Given the description of an element on the screen output the (x, y) to click on. 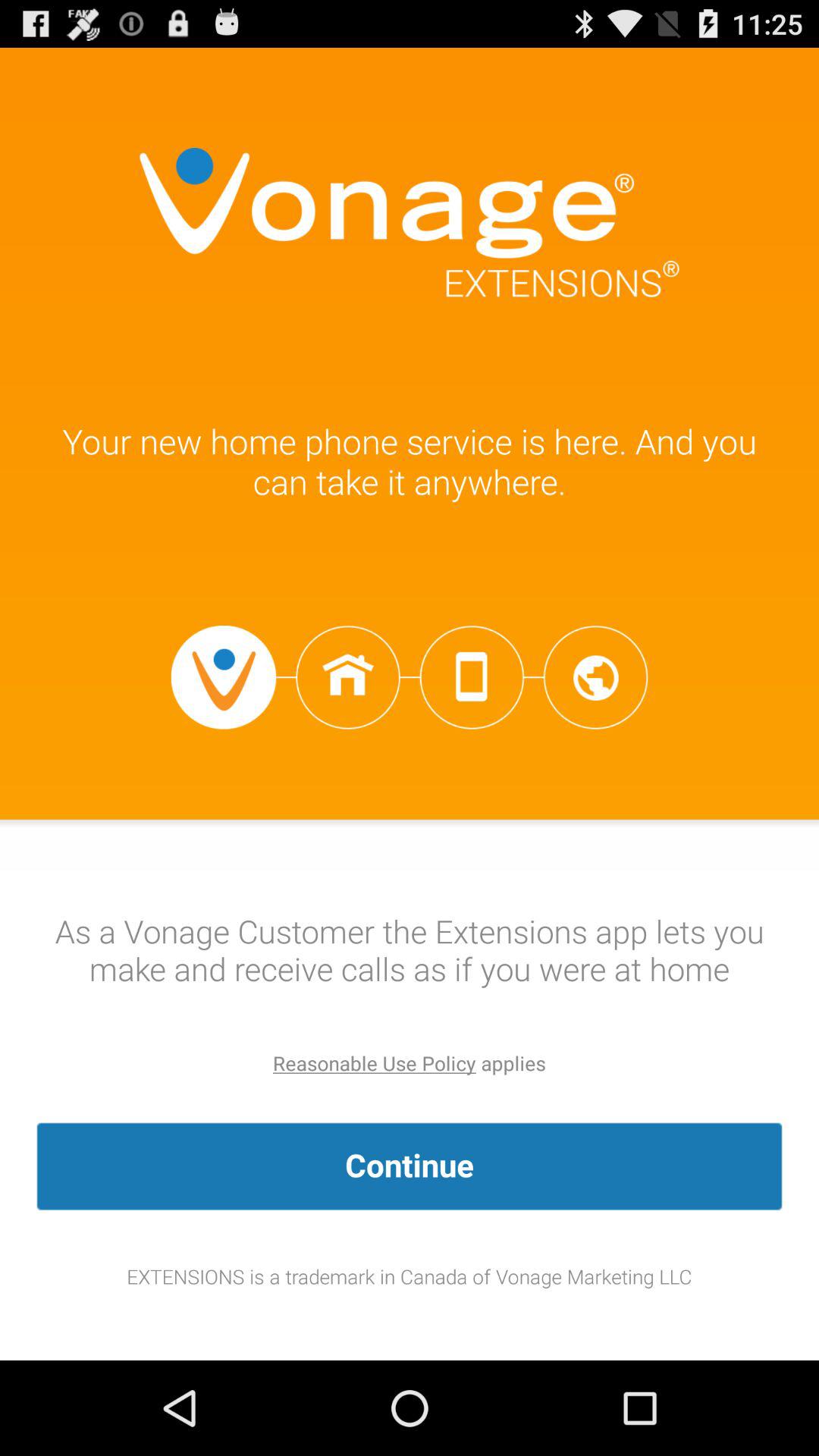
press item above the extensions is a app (409, 1166)
